Given the description of an element on the screen output the (x, y) to click on. 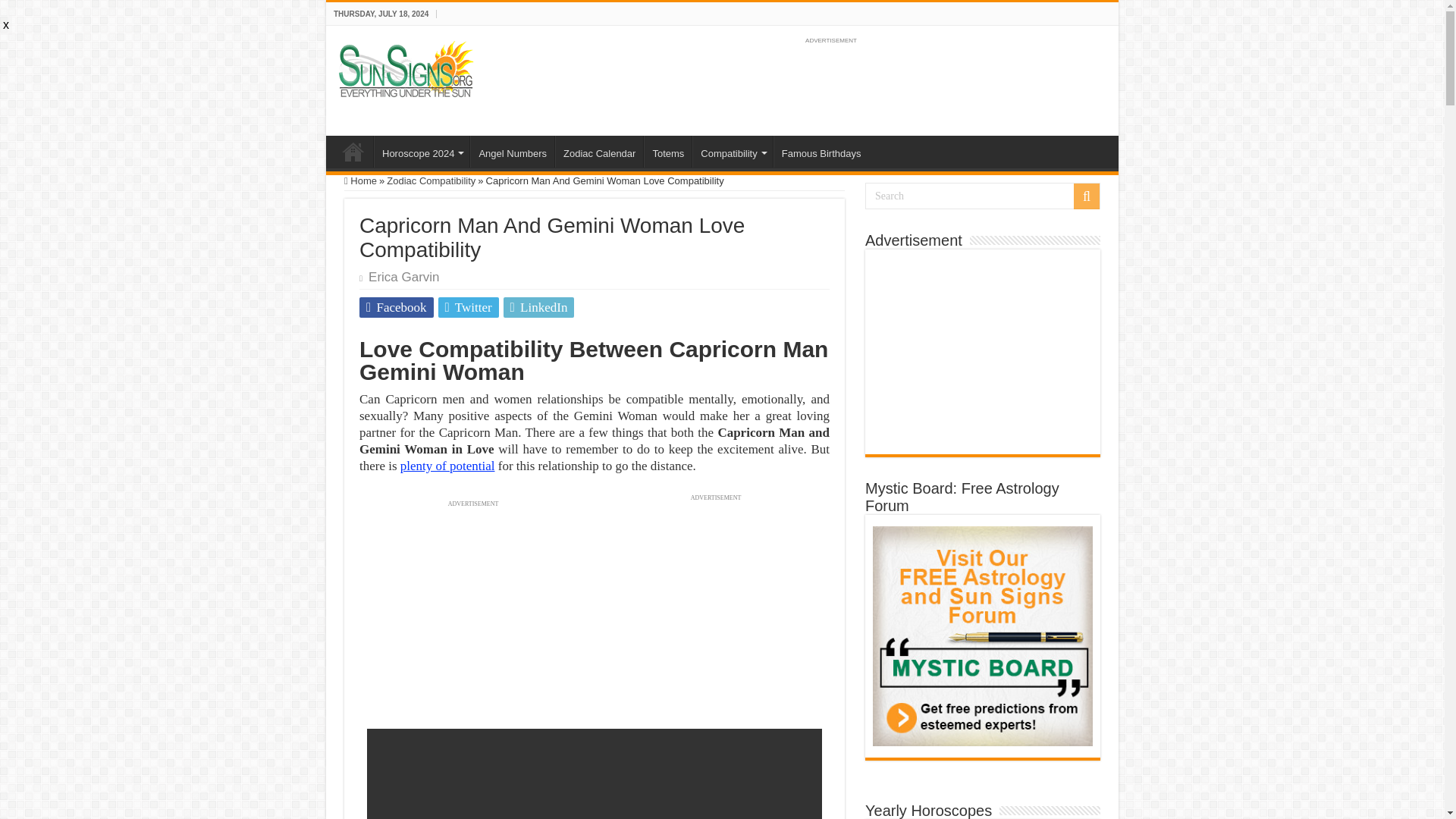
Angel Numbers (512, 151)
Search (982, 195)
Horoscope 2024 (421, 151)
Home (360, 180)
Angel Numbers (512, 151)
Sun Signs (352, 151)
Zodiac Compatibility (431, 180)
3rd party ad content (830, 82)
plenty of potential (447, 465)
Horoscope 2024 (421, 151)
Sun Signs (405, 67)
Home (352, 151)
LinkedIn (539, 307)
Compatibility (732, 151)
Erica Garvin (403, 277)
